Given the description of an element on the screen output the (x, y) to click on. 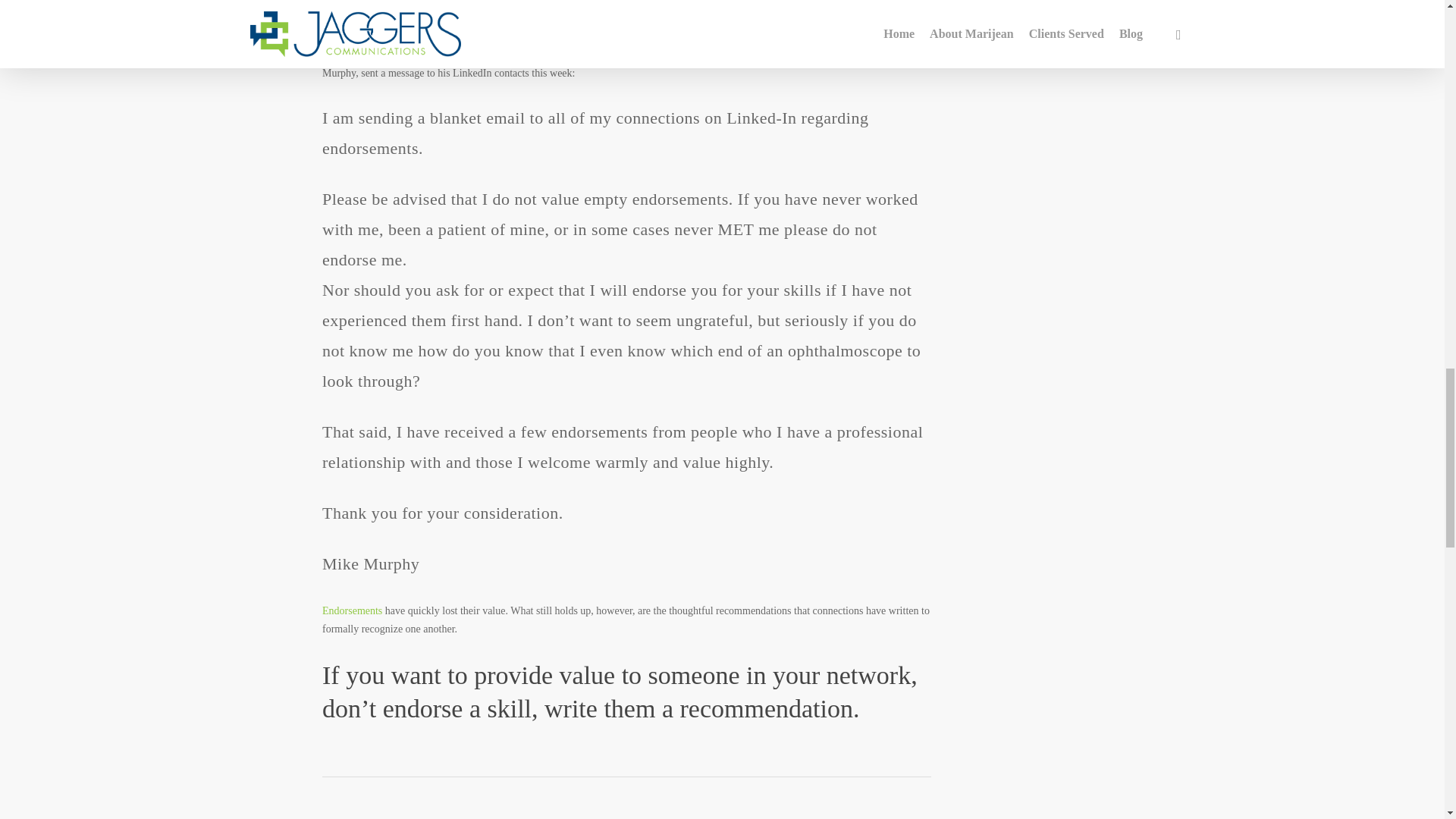
Endorsements (353, 610)
